Given the description of an element on the screen output the (x, y) to click on. 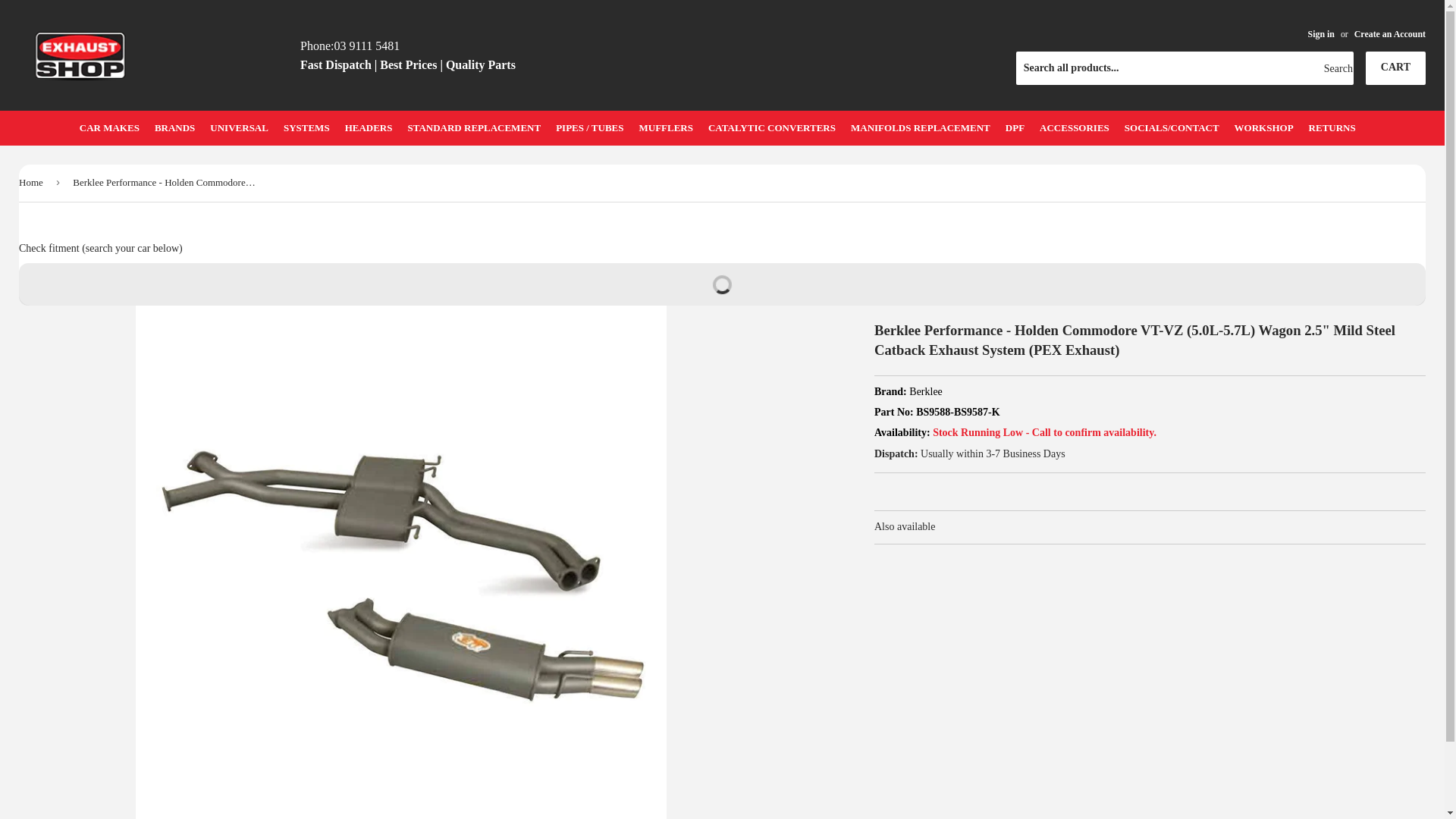
DPF Element type: text (1014, 127)
UNIVERSAL Element type: text (239, 127)
Phone:03 9111 5481 Element type: text (349, 45)
HEADERS Element type: text (368, 127)
PIPES / TUBES Element type: text (589, 127)
SYSTEMS Element type: text (306, 127)
Sign in Element type: text (1321, 33)
CATALYTIC CONVERTERS Element type: text (771, 127)
Home Element type: text (33, 183)
Create an Account Element type: text (1389, 33)
ACCESSORIES Element type: text (1074, 127)
MANIFOLDS REPLACEMENT Element type: text (920, 127)
STANDARD REPLACEMENT Element type: text (473, 127)
SOCIALS/CONTACT Element type: text (1171, 127)
MUFFLERS Element type: text (665, 127)
CAR MAKES Element type: text (109, 127)
CART Element type: text (1395, 67)
WORKSHOP Element type: text (1263, 127)
RETURNS Element type: text (1332, 127)
BRANDS Element type: text (174, 127)
Search Element type: text (1336, 68)
